Given the description of an element on the screen output the (x, y) to click on. 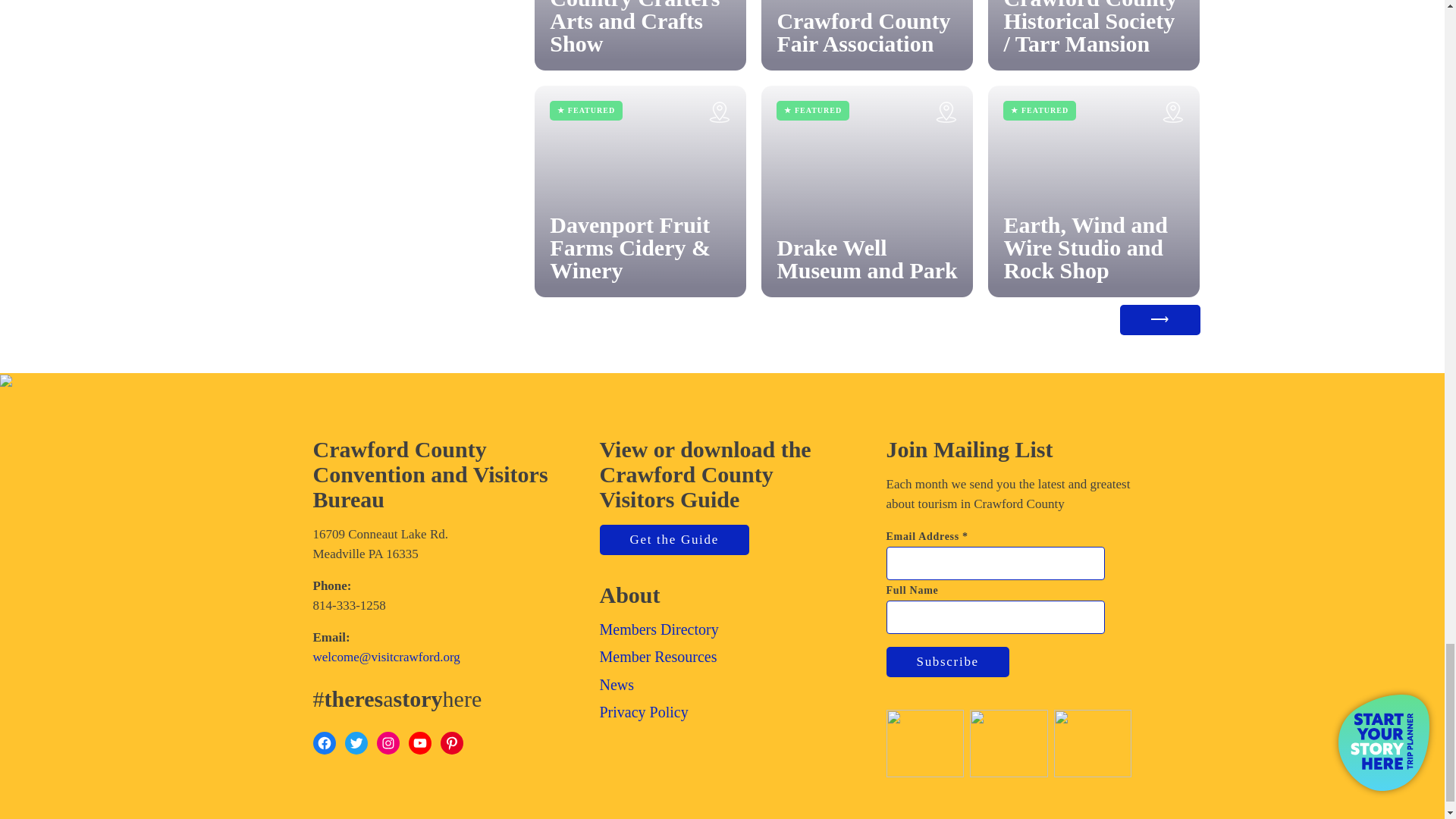
Subscribe (947, 662)
